Given the description of an element on the screen output the (x, y) to click on. 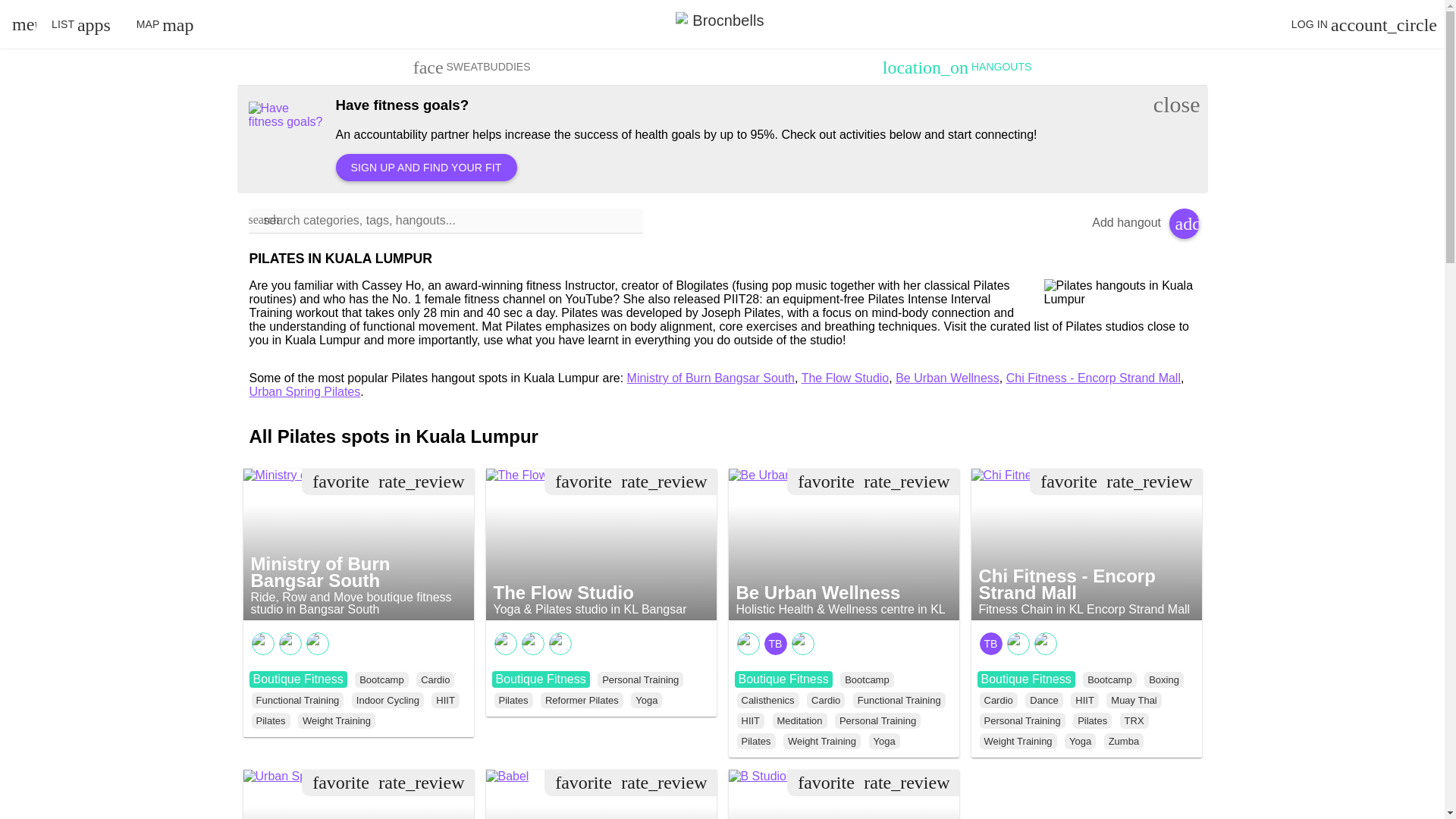
Be Urban Wellness (786, 475)
Chi Fitness - Encorp Strand Mall (1064, 475)
Babel (506, 775)
Pilates hangouts in Kuala Lumpur (1119, 292)
B Studios (760, 775)
LIST apps (80, 23)
MAP map (165, 23)
Urban Spring Pilates (304, 775)
menu (20, 24)
The Flow Studio (534, 475)
